Given the description of an element on the screen output the (x, y) to click on. 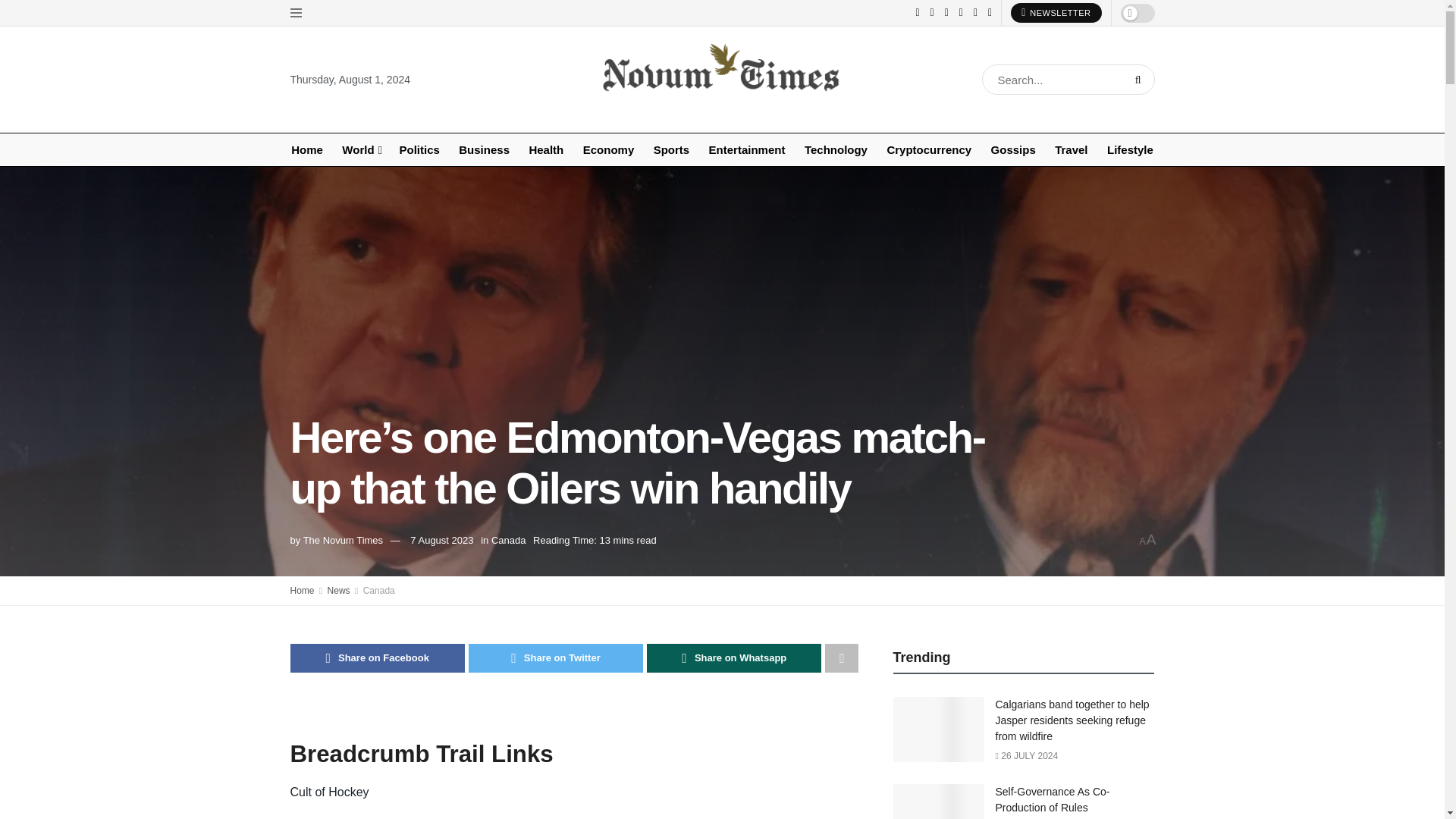
Travel (1070, 149)
Lifestyle (1129, 149)
Entertainment (746, 149)
NEWSLETTER (1055, 12)
Business (484, 149)
Politics (419, 149)
World (360, 149)
Technology (836, 149)
Sports (671, 149)
Economy (607, 149)
Cryptocurrency (928, 149)
Home (306, 149)
Gossips (1013, 149)
Health (545, 149)
